Given the description of an element on the screen output the (x, y) to click on. 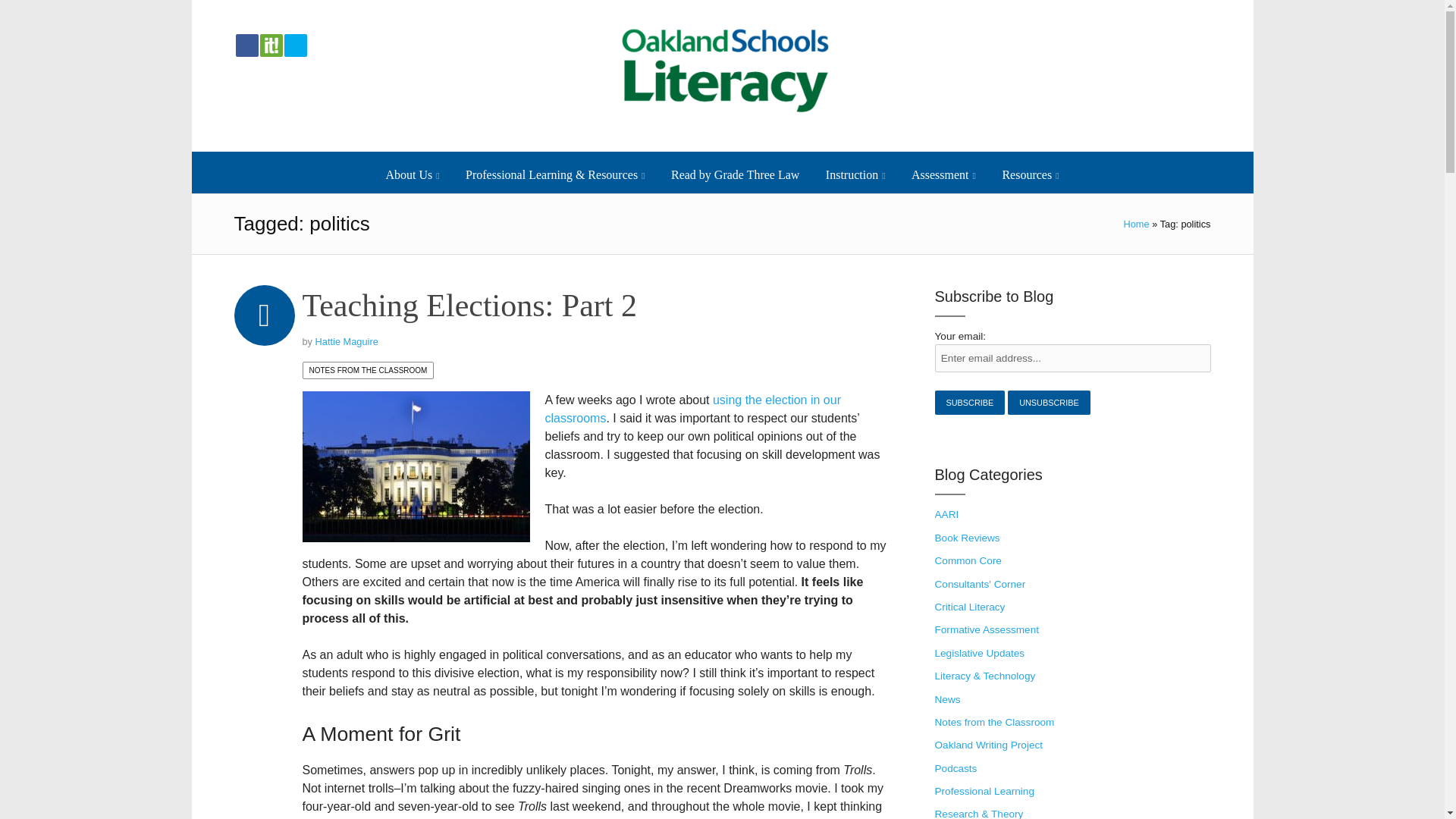
Oakland Schools Literacy (721, 75)
Enter email address... (1071, 357)
Instruction (855, 173)
Read by Grade Three Law (735, 173)
Facebook (244, 45)
View all posts by Hattie Maguire (346, 341)
Assessment (943, 173)
Scoop (269, 45)
About Us (412, 173)
Twitter (293, 45)
Subscribe (969, 402)
Unsubscribe (1048, 402)
Resources (1029, 173)
